Given the description of an element on the screen output the (x, y) to click on. 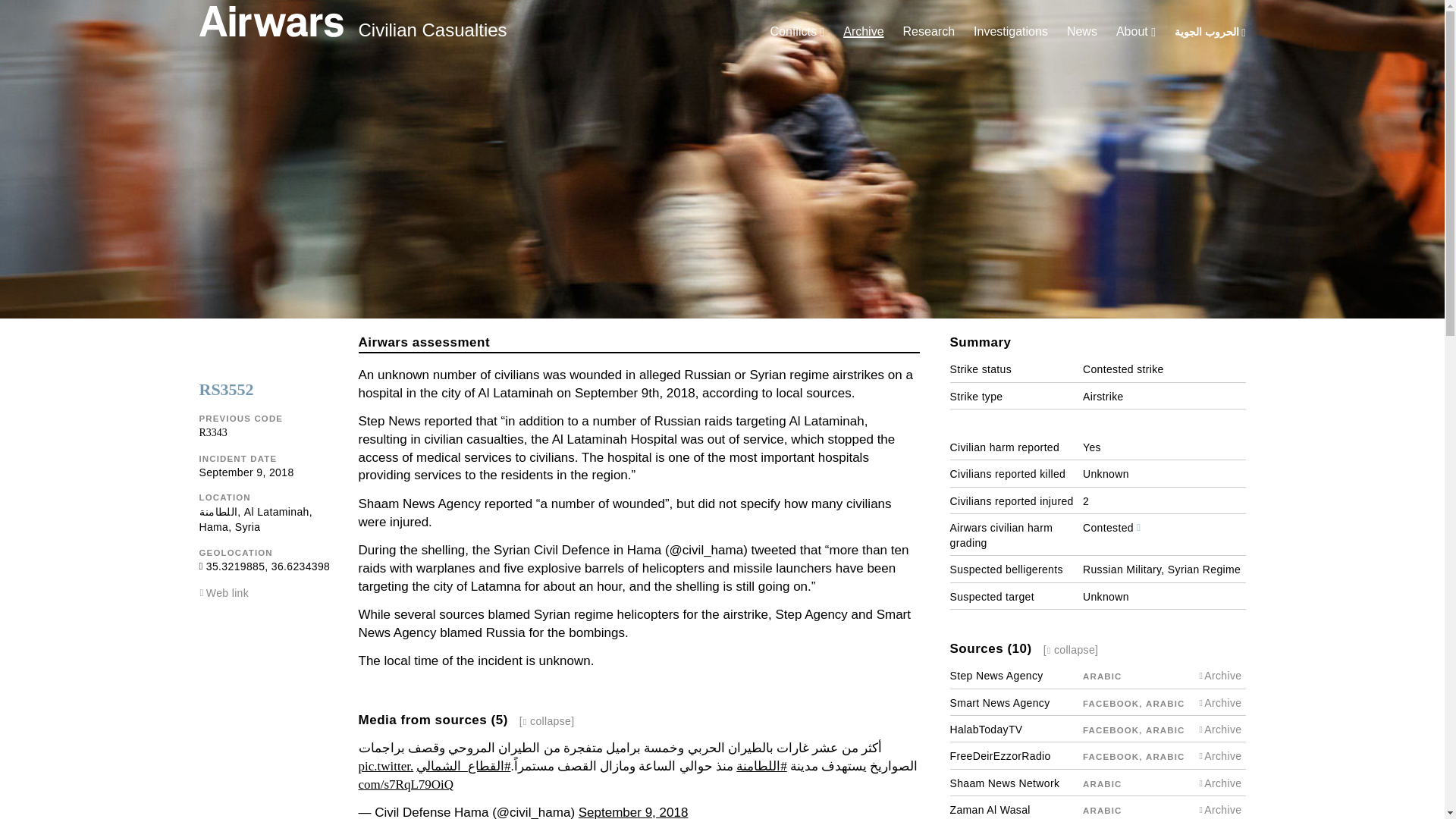
Web link (227, 592)
Archive (863, 31)
Investigations (1011, 31)
Research (928, 31)
News (1082, 31)
